Given the description of an element on the screen output the (x, y) to click on. 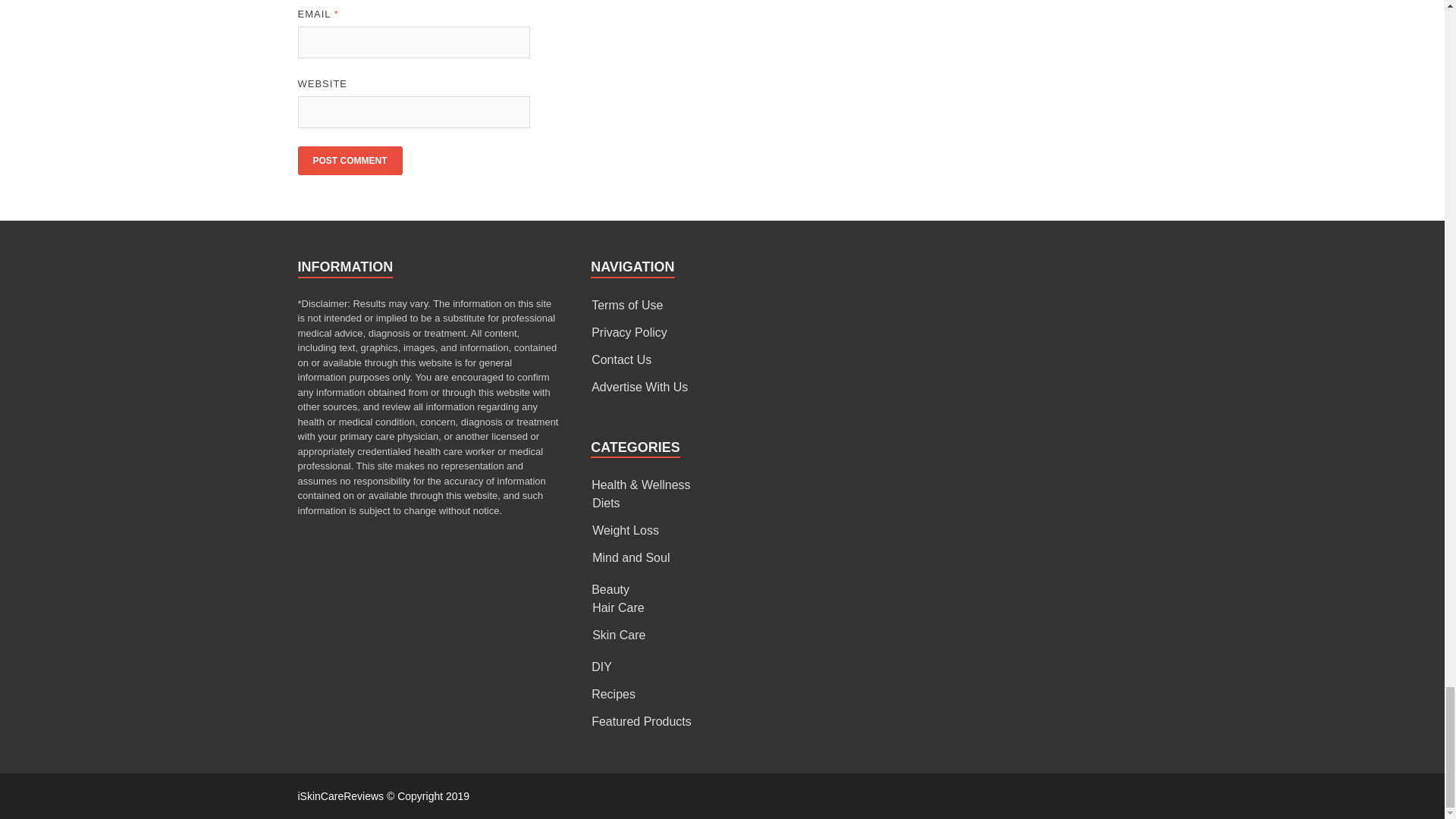
Post Comment (349, 160)
